Given the description of an element on the screen output the (x, y) to click on. 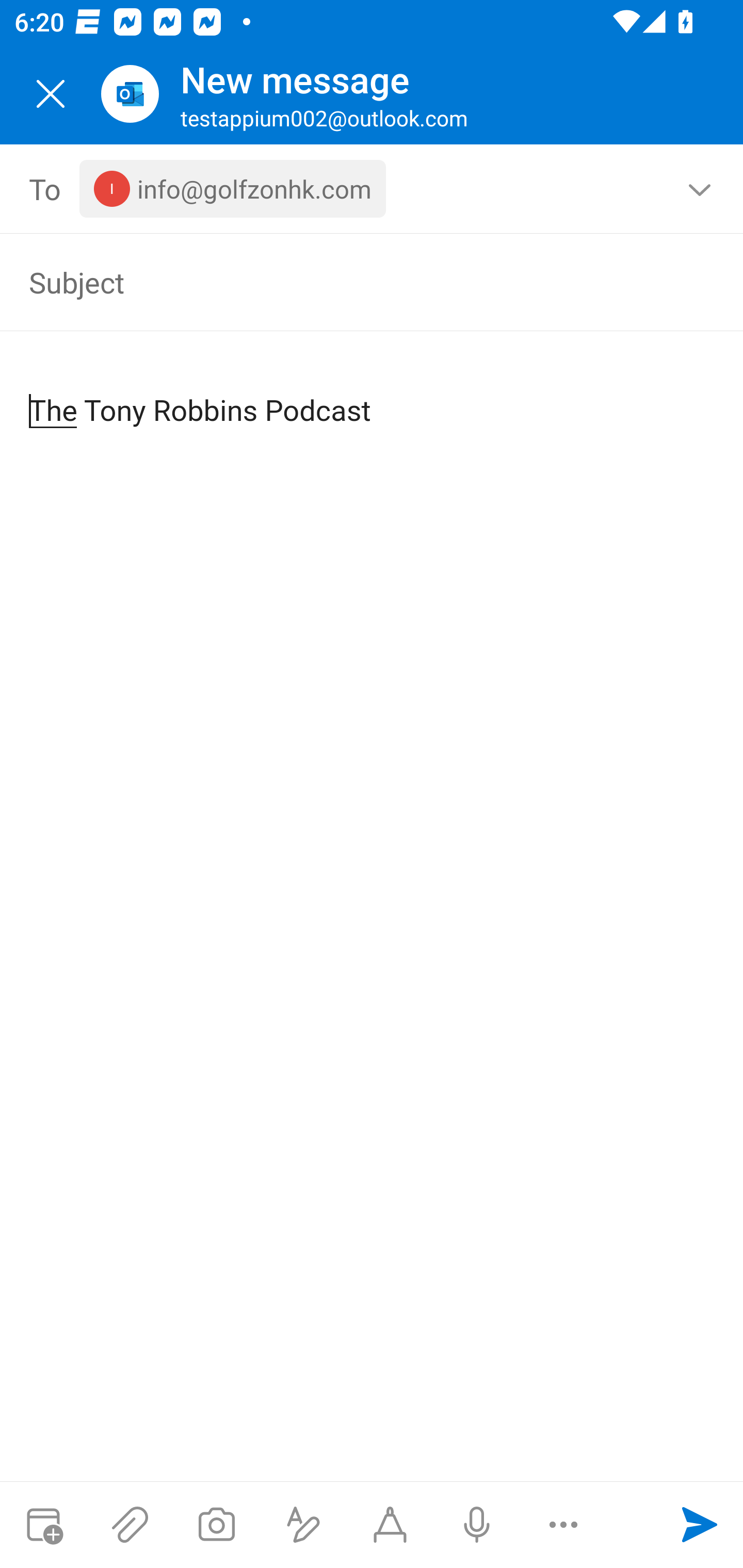
Close (50, 93)
Subject (342, 281)

The Tony Robbins Podcast (372, 394)
Attach meeting (43, 1524)
Attach files (129, 1524)
Take a photo (216, 1524)
Show formatting options (303, 1524)
Start Ink compose (389, 1524)
Dictation (476, 1524)
More options (563, 1524)
Send (699, 1524)
